Given the description of an element on the screen output the (x, y) to click on. 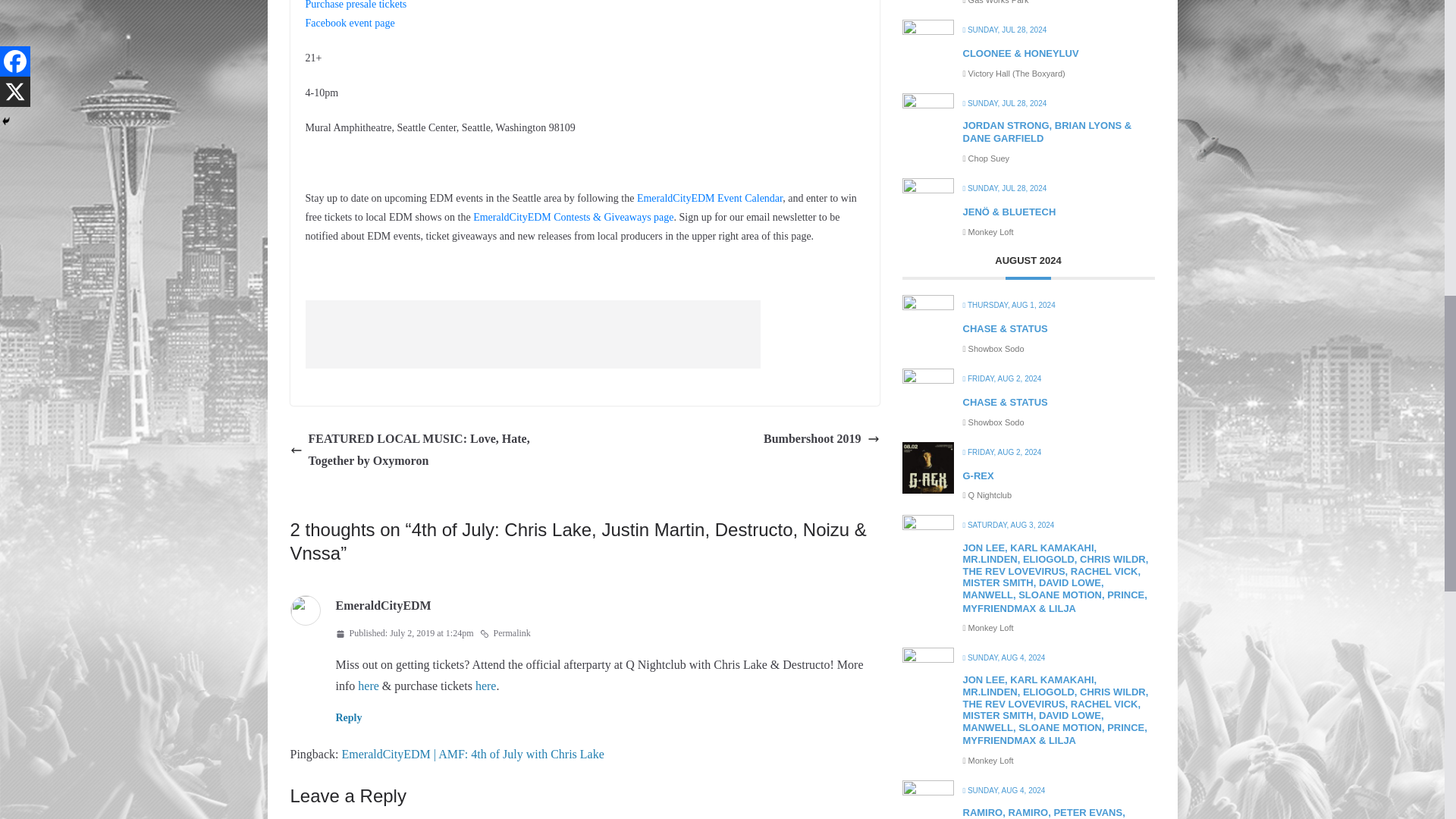
FEATURED LOCAL MUSIC: Love, Hate, Together by Oxymoron (432, 450)
here (368, 685)
Permalink (505, 633)
Bumbershoot 2019 (820, 439)
Purchase presale tickets (355, 4)
Reply (347, 717)
EmeraldCityEDM Event Calendar (710, 197)
Facebook event page (349, 22)
here (486, 685)
